Given the description of an element on the screen output the (x, y) to click on. 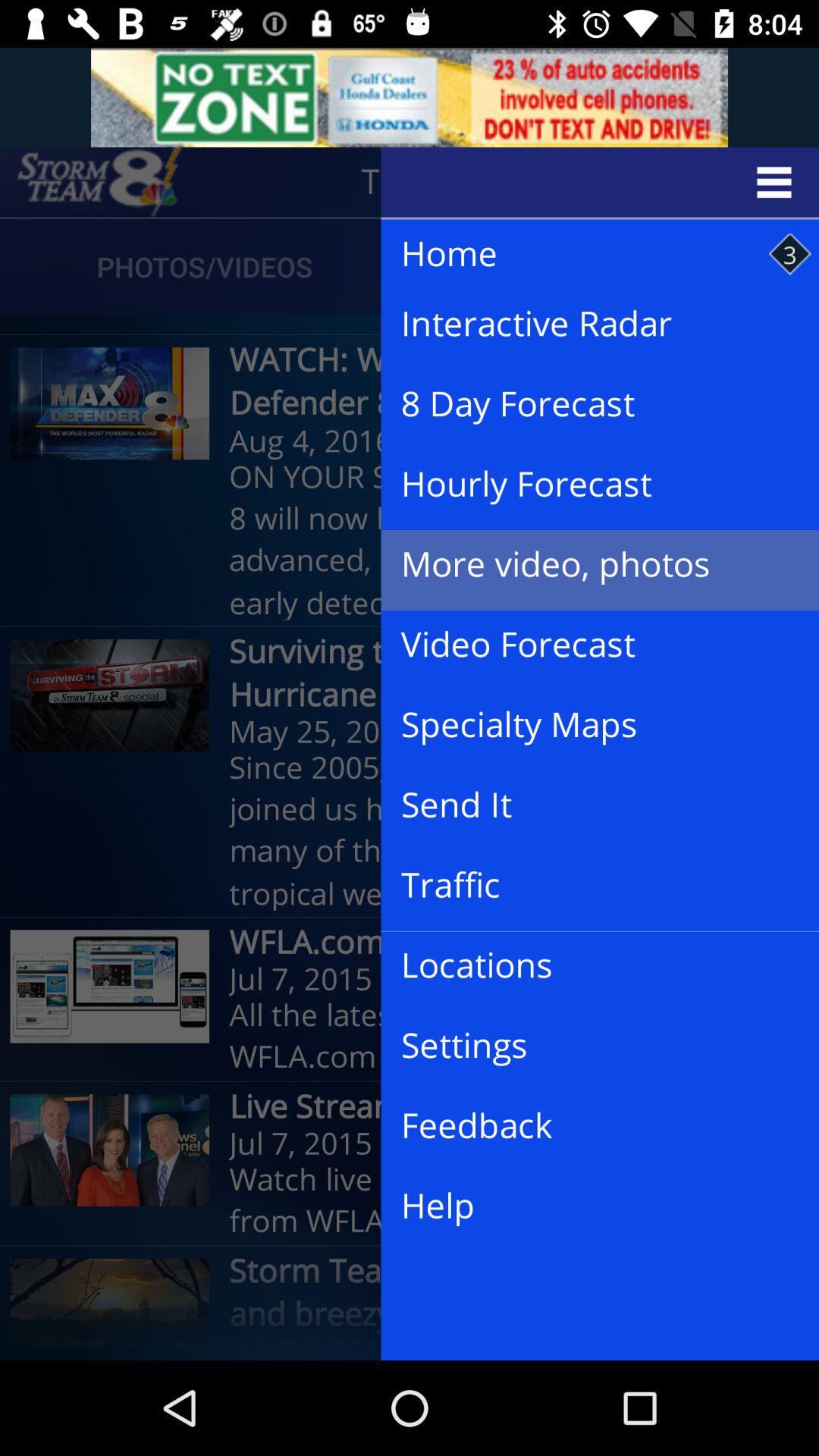
choose the item below the jul 7 2015 (587, 1206)
